Given the description of an element on the screen output the (x, y) to click on. 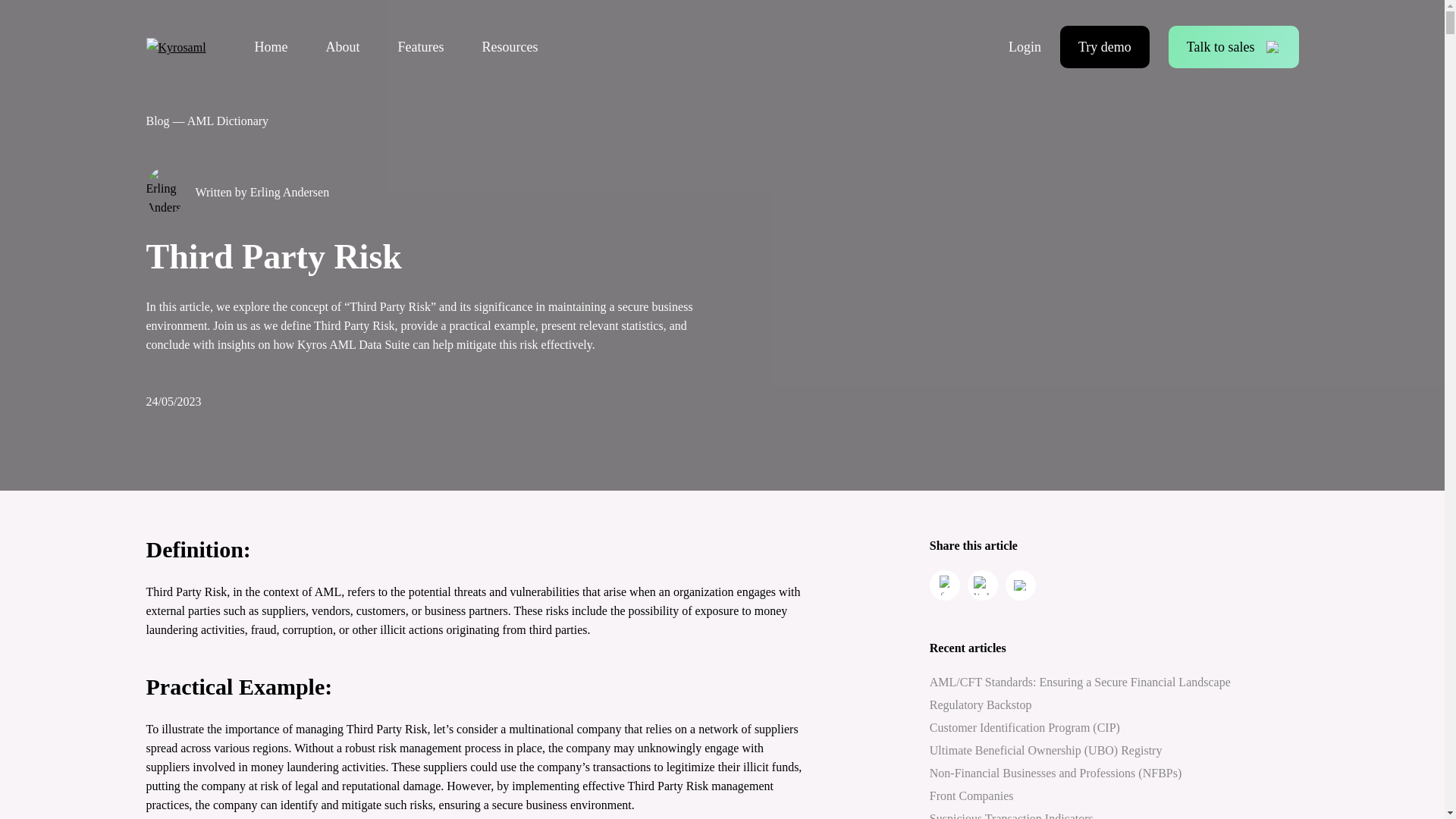
Talk to sales (1233, 46)
Try demo (1104, 46)
Resources (509, 46)
AML Dictionary (227, 120)
Try demo (1104, 46)
Login (1025, 46)
Login (1025, 46)
Talk to sales (1233, 46)
